Given the description of an element on the screen output the (x, y) to click on. 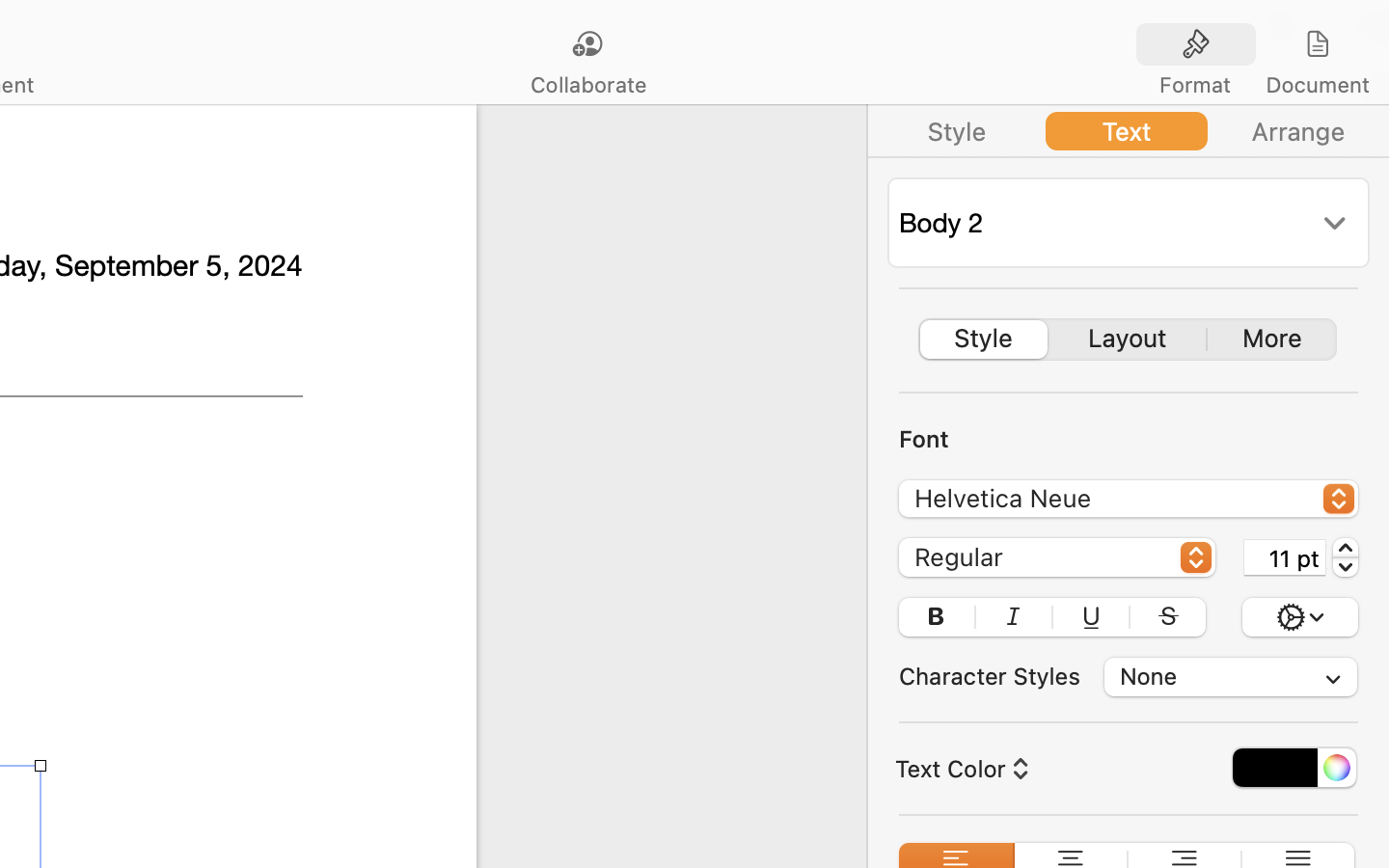
Character Styles Element type: AXStaticText (989, 675)
Format Element type: AXStaticText (1194, 84)
<AXUIElement 0x2a0bf2420> {pid=1482} Element type: AXGroup (1256, 45)
Font Element type: AXStaticText (924, 438)
